Given the description of an element on the screen output the (x, y) to click on. 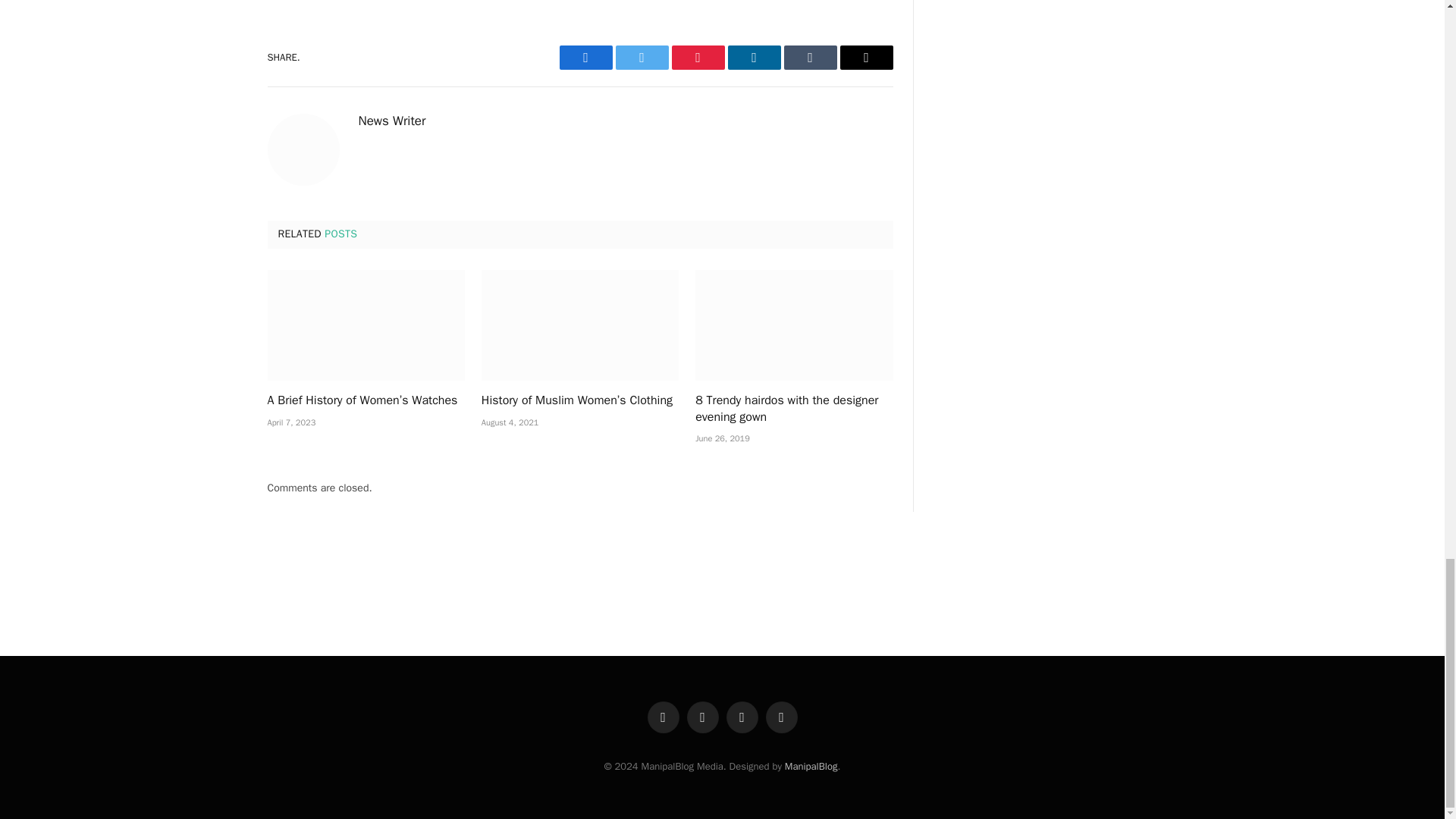
Pinterest (698, 57)
Facebook (585, 57)
Twitter (641, 57)
